Given the description of an element on the screen output the (x, y) to click on. 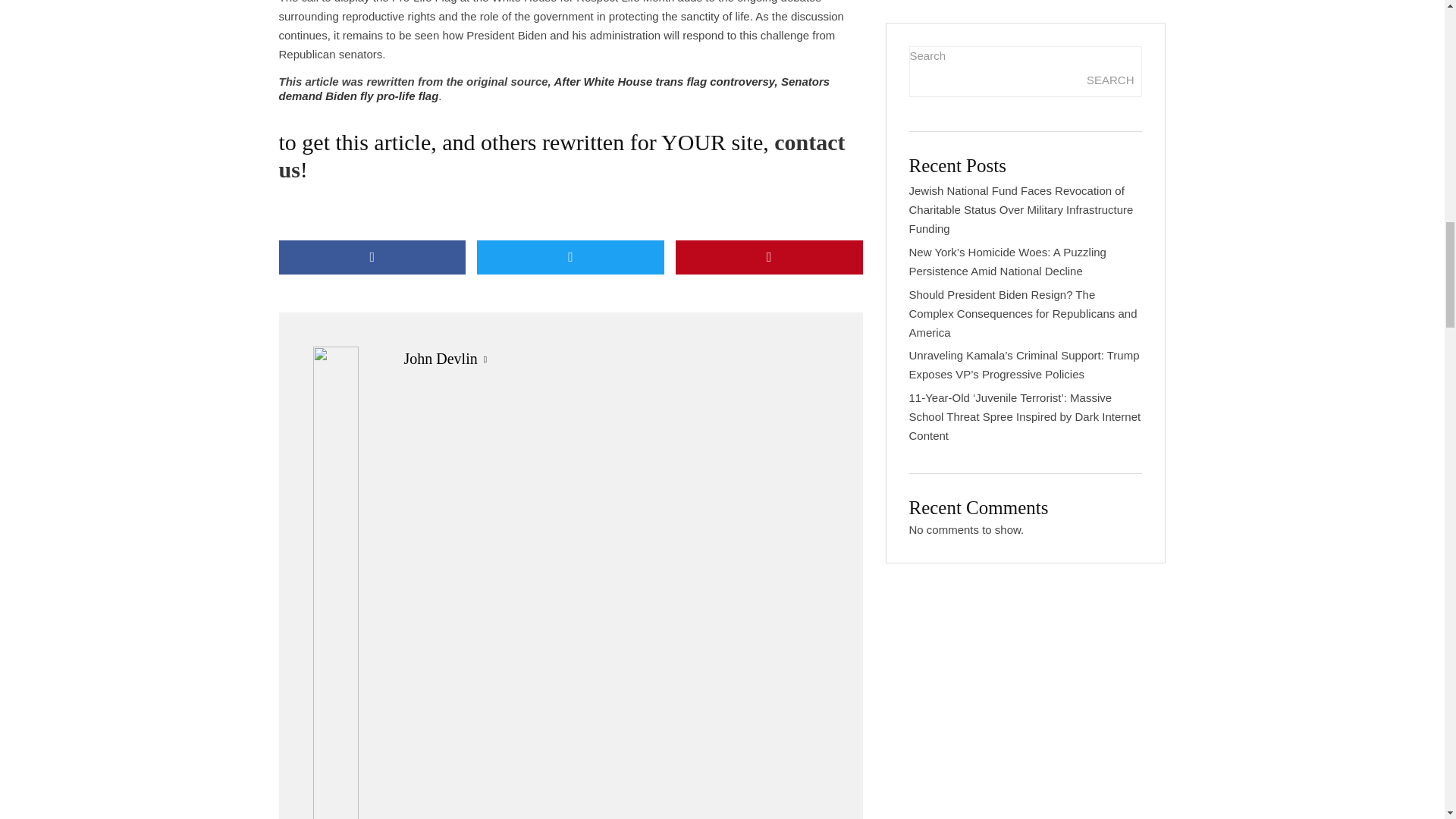
John Devlin (440, 358)
contact us (562, 154)
